Given the description of an element on the screen output the (x, y) to click on. 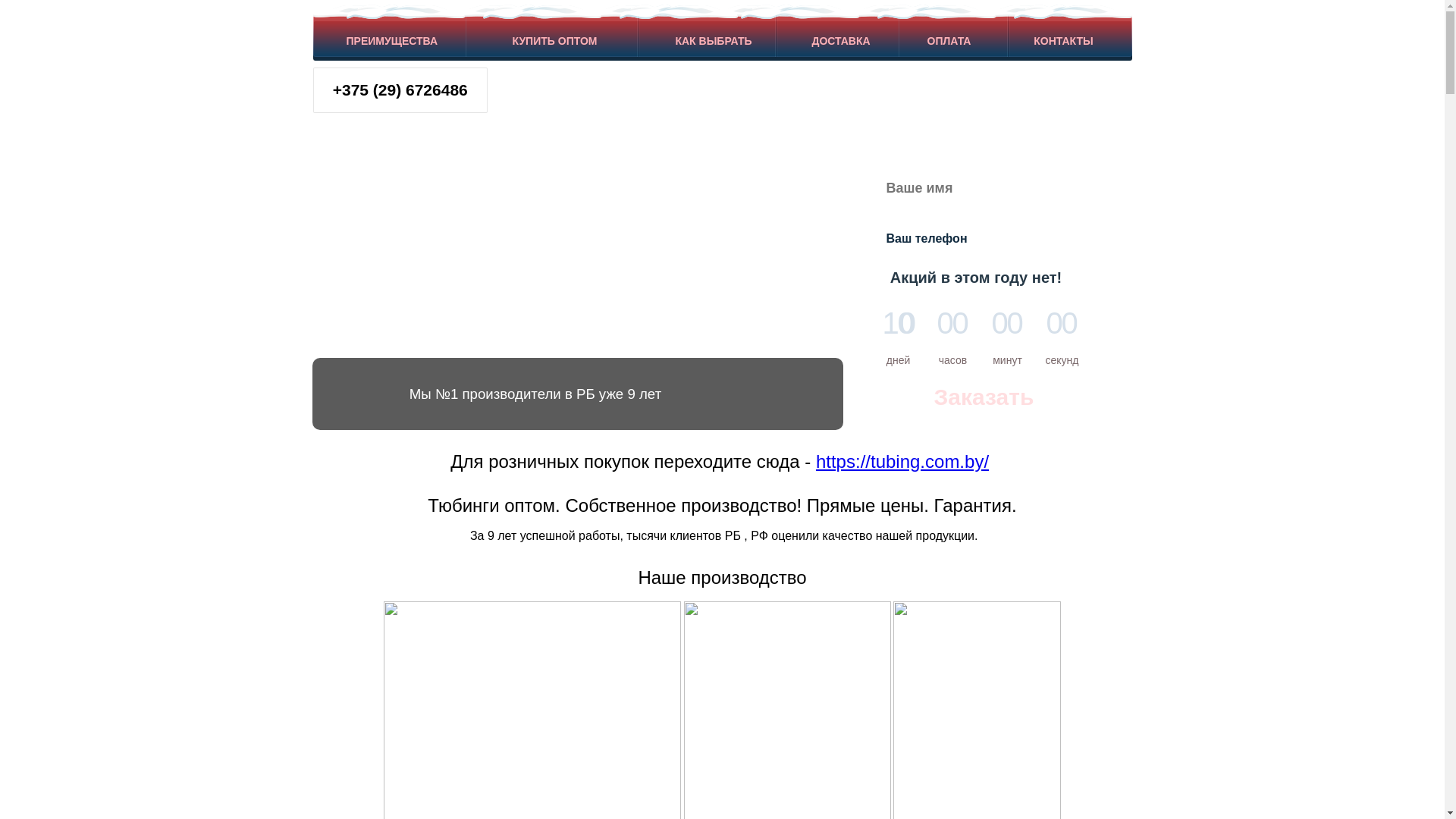
https://tubing.com.by/ Element type: text (901, 461)
+375 (29) 6726486 Element type: text (399, 89)
